Given the description of an element on the screen output the (x, y) to click on. 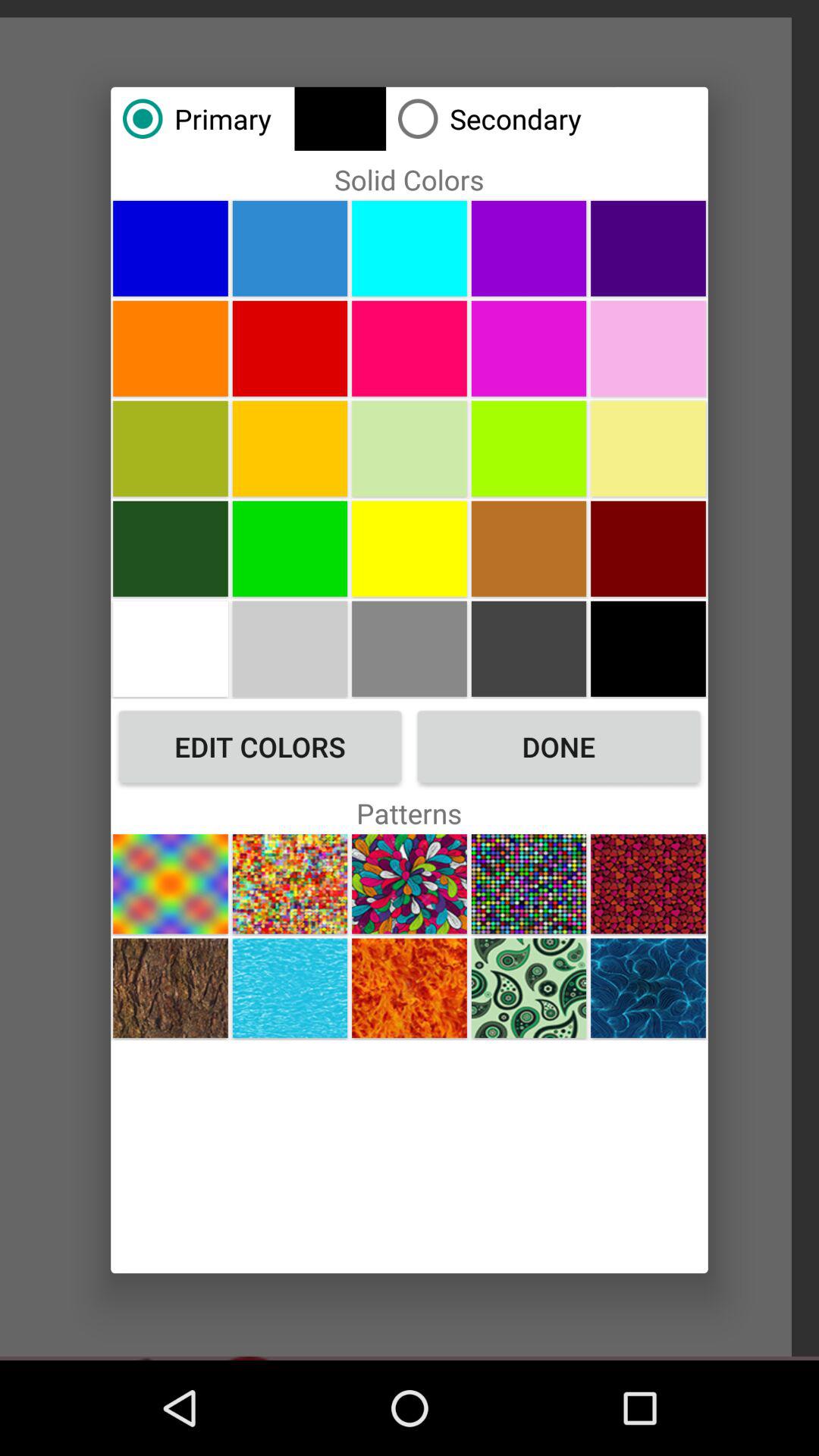
choose white (170, 648)
